Given the description of an element on the screen output the (x, y) to click on. 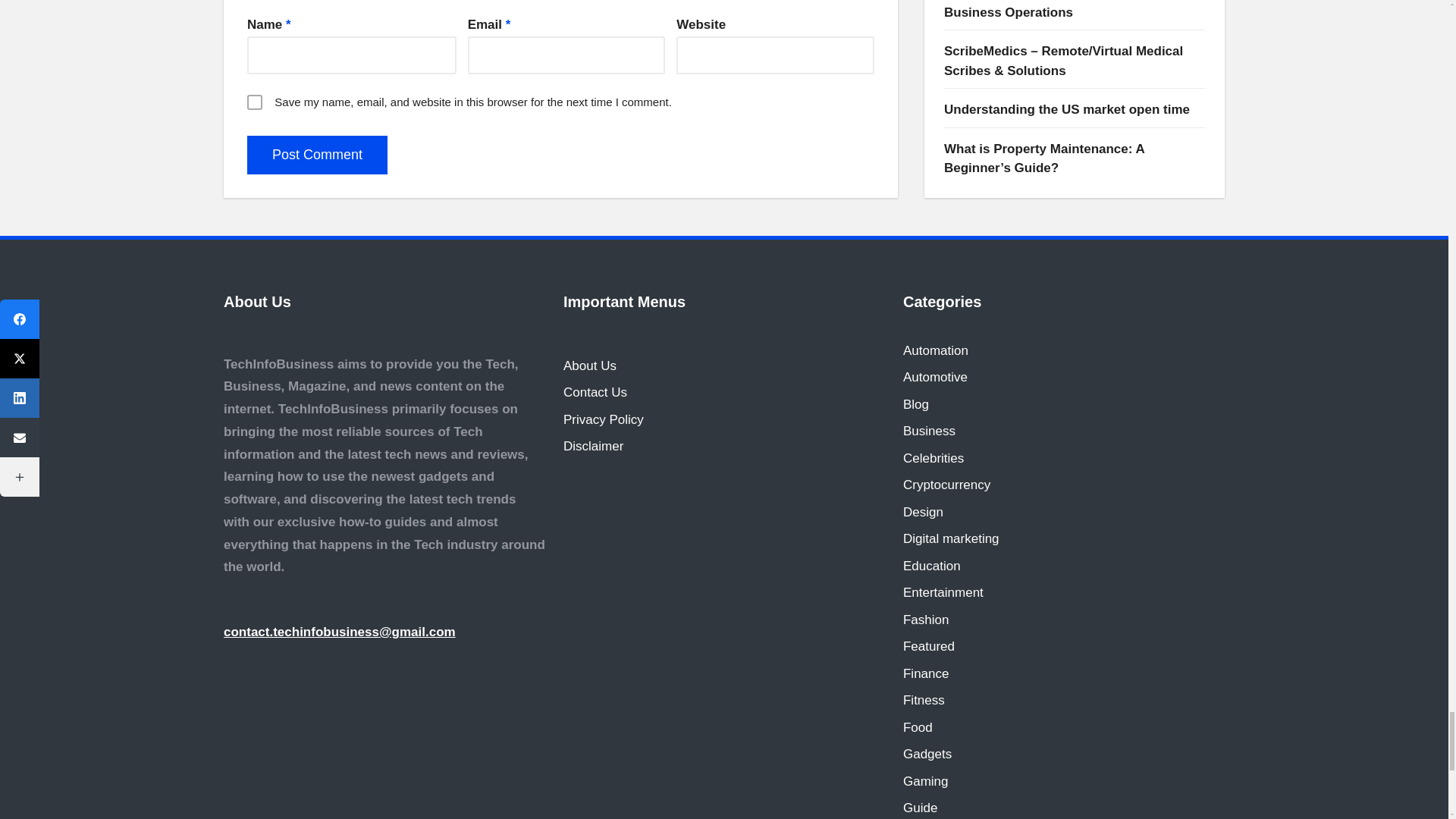
Post Comment (317, 154)
yes (254, 102)
